Given the description of an element on the screen output the (x, y) to click on. 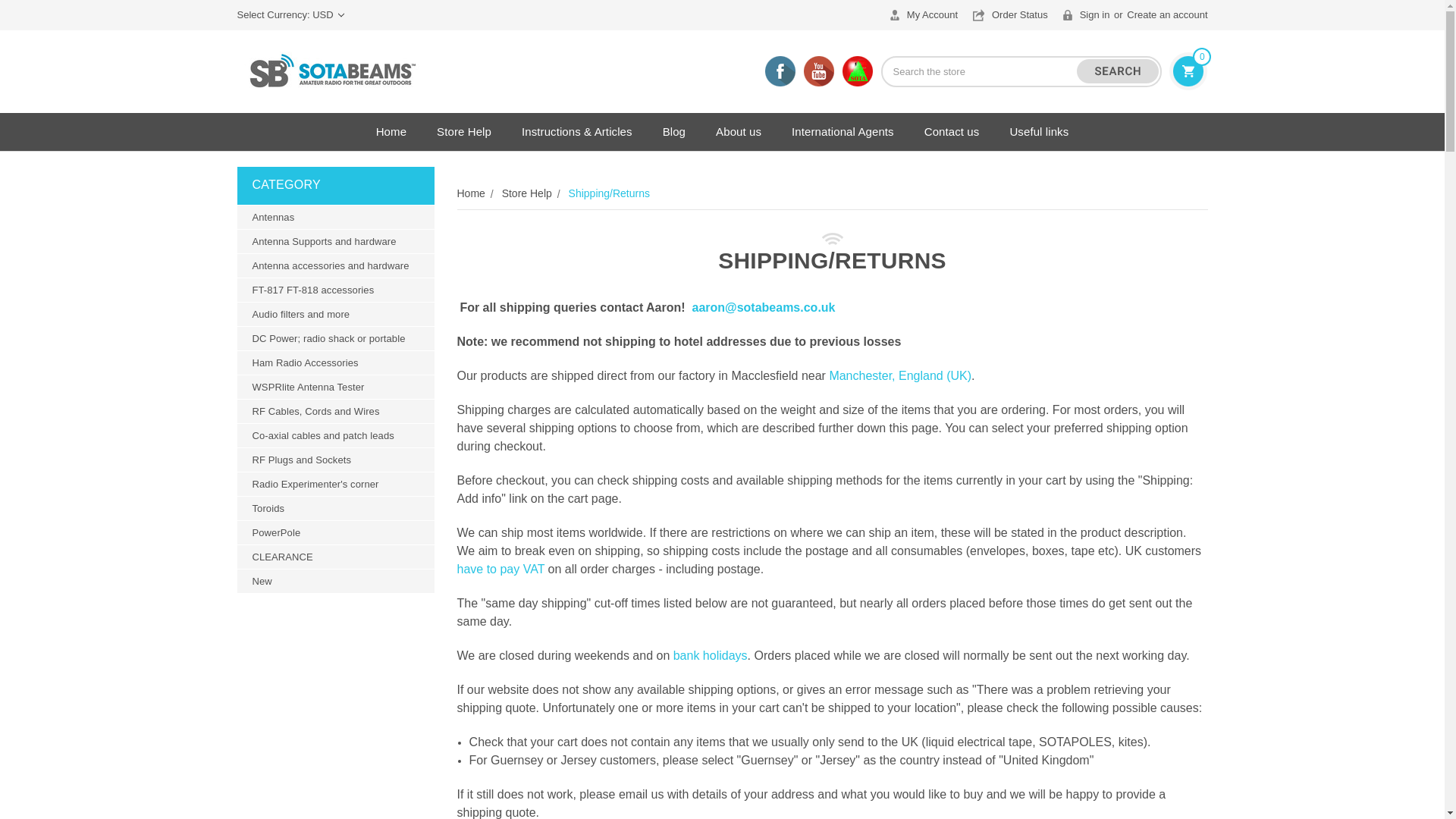
0 (1188, 71)
Create an account (1166, 15)
Sign in (1085, 15)
Order Status (1010, 15)
My Account (923, 15)
Store Help (464, 131)
Select Currency: USD (289, 15)
Amateur radio for the great outdoors (330, 71)
Home (391, 131)
